Given the description of an element on the screen output the (x, y) to click on. 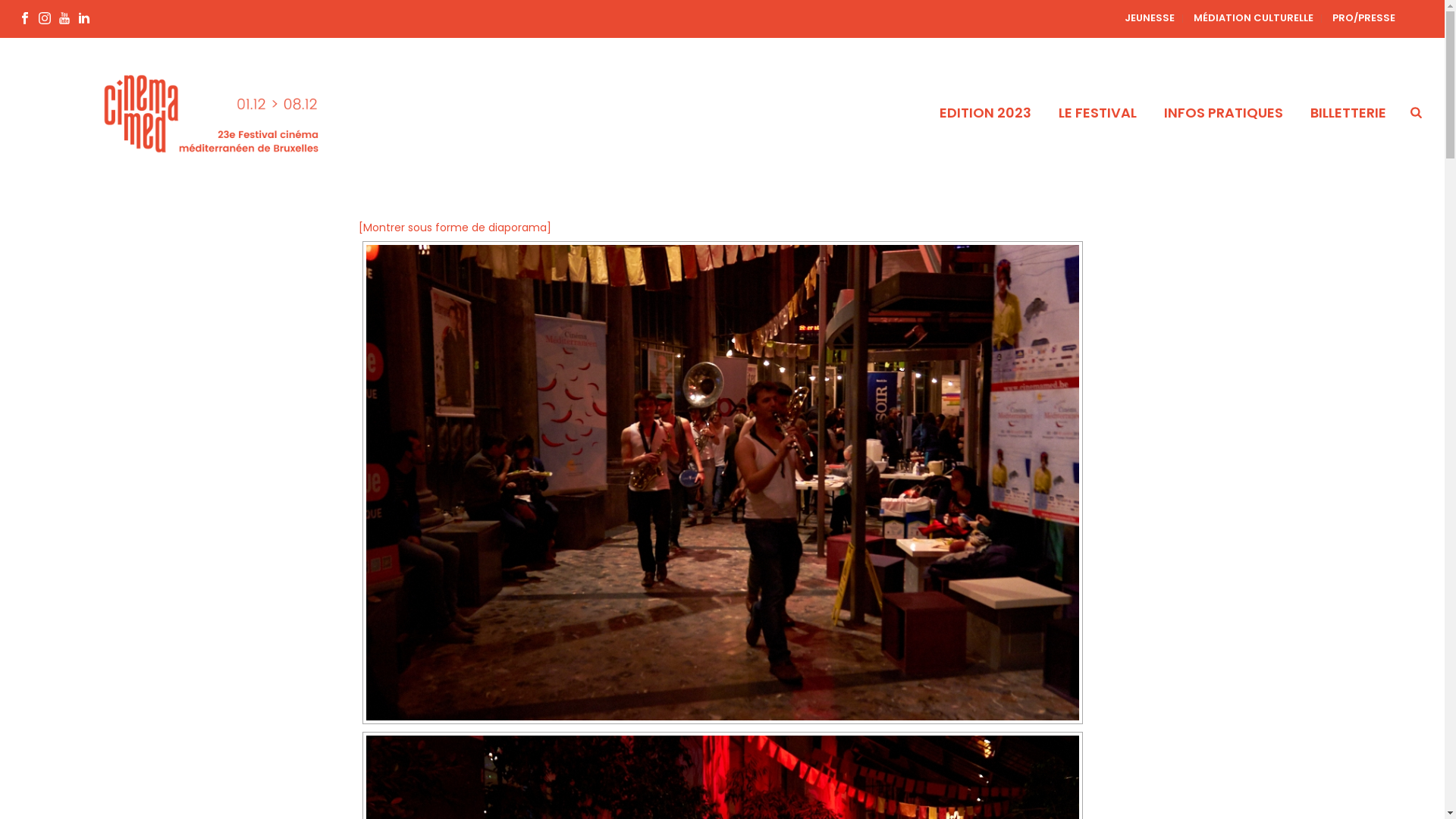
[Montrer sous forme de diaporama] Element type: text (453, 228)
JEUNESSE Element type: text (1150, 18)
PRO/PRESSE Element type: text (1363, 18)
BILLETTERIE Element type: text (1347, 112)
INFOS PRATIQUES Element type: text (1223, 112)
EDITION 2023 Element type: text (984, 112)
LE FESTIVAL Element type: text (1097, 112)
